Given the description of an element on the screen output the (x, y) to click on. 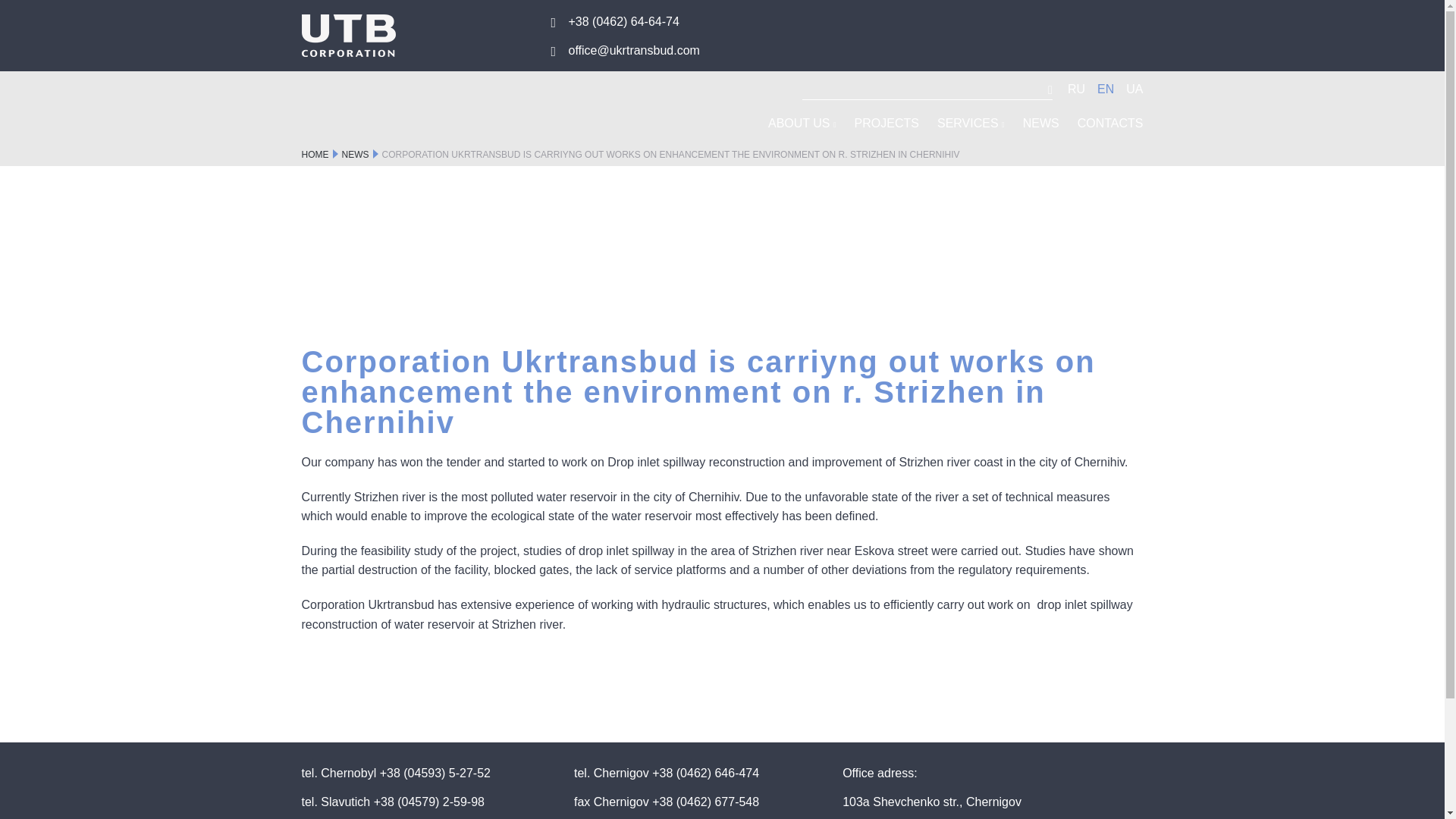
RU (1075, 88)
EN (1105, 88)
UA (1133, 88)
SERVICES (970, 122)
NEWS (1041, 122)
HOME (315, 154)
ABOUT US (801, 122)
NEWS (354, 154)
CONTACTS (1109, 122)
PROJECTS (886, 122)
